Given the description of an element on the screen output the (x, y) to click on. 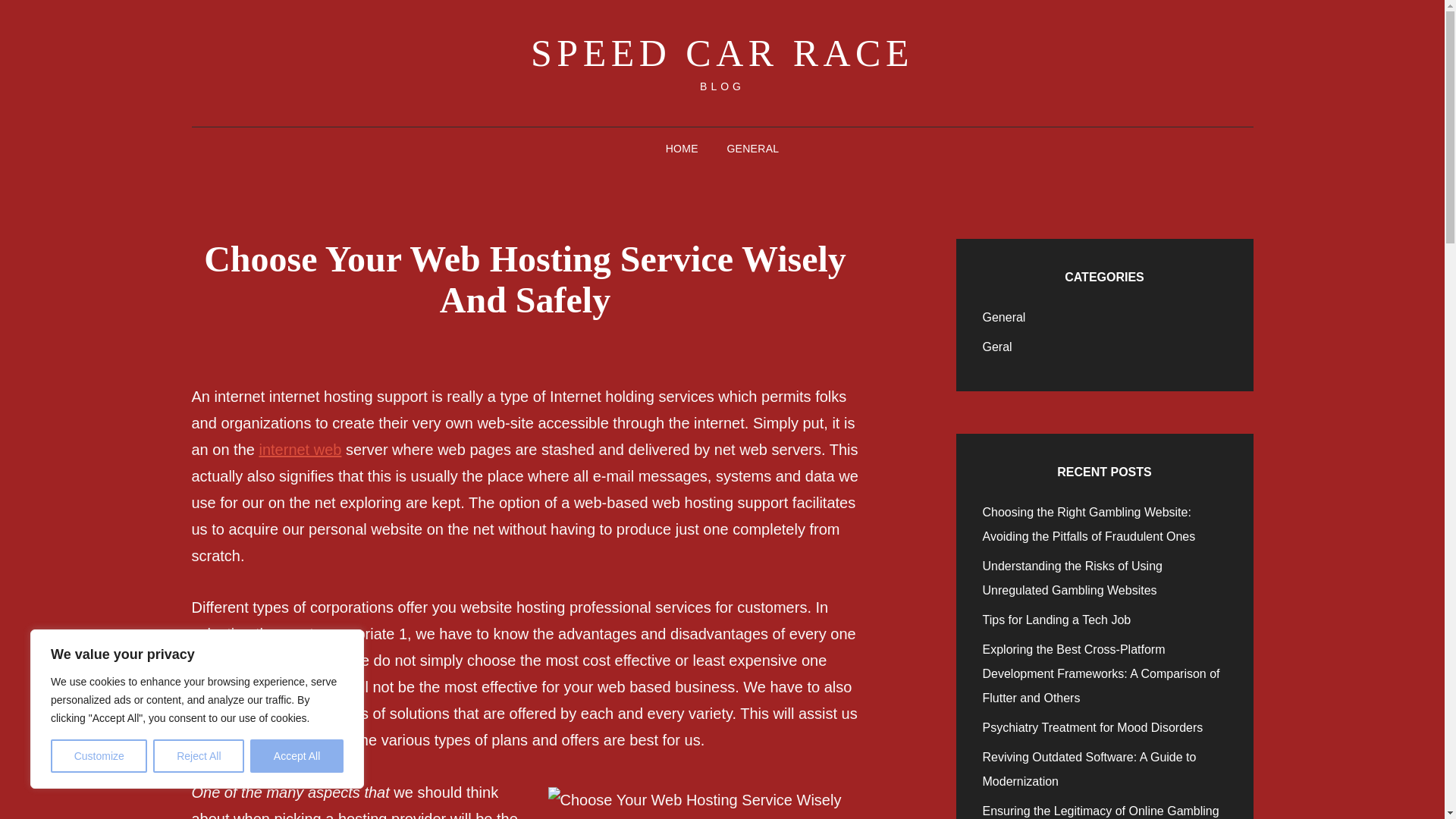
Customize (98, 756)
internet web (299, 449)
HOME (681, 148)
Ensuring the Legitimacy of Online Gambling Platforms (1101, 811)
General (1004, 317)
Accept All (296, 756)
Tips for Landing a Tech Job (1056, 619)
GENERAL (752, 148)
Psychiatry Treatment for Mood Disorders (1093, 727)
Reject All (198, 756)
SPEED CAR RACE (722, 52)
Reviving Outdated Software: A Guide to Modernization (1089, 769)
